Given the description of an element on the screen output the (x, y) to click on. 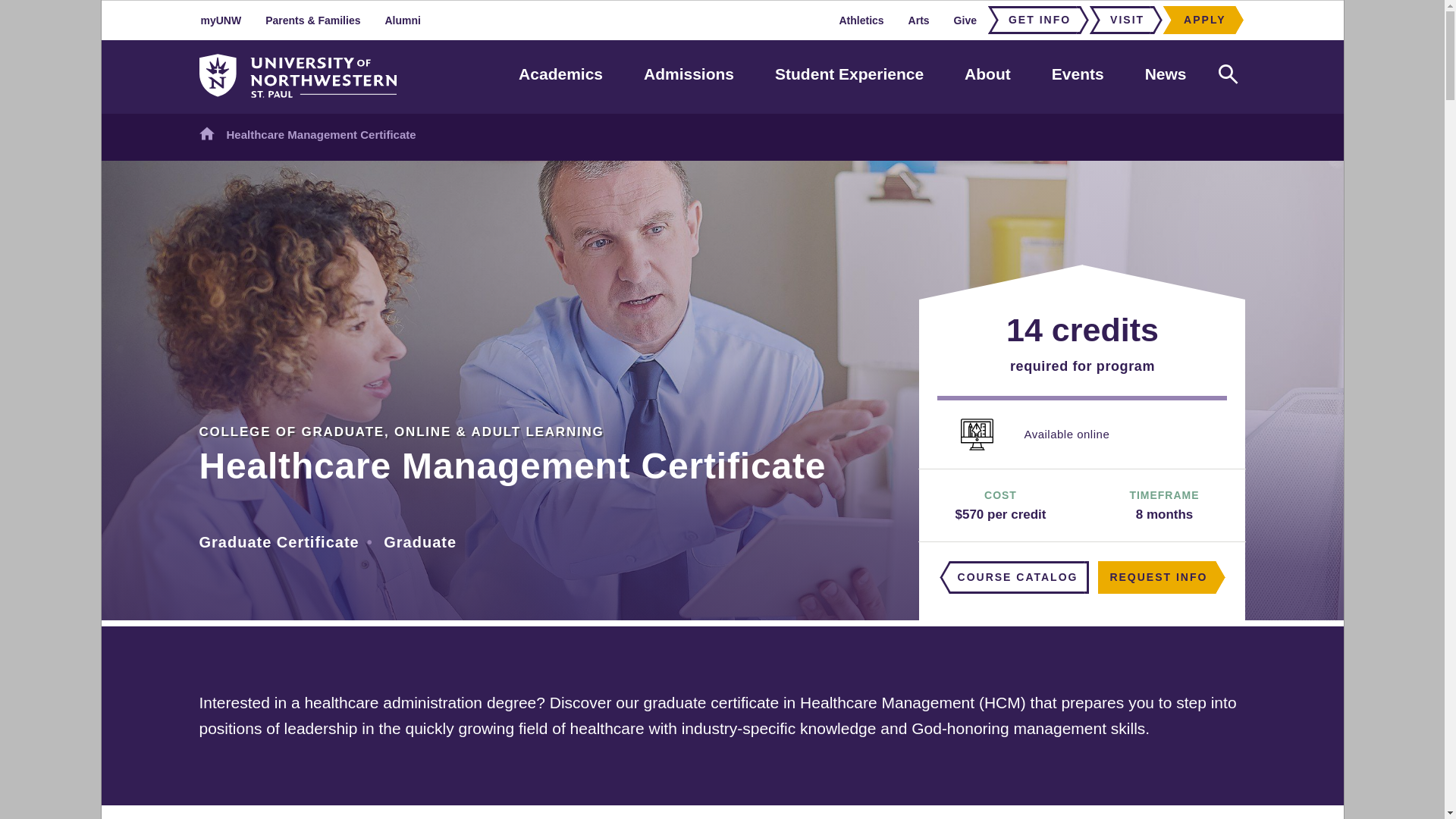
myUNW (220, 20)
Alumni (402, 20)
Arts (919, 20)
Admissions (688, 73)
Give (964, 20)
Academics (560, 73)
Athletics (860, 20)
APPLY (1199, 20)
GET INFO (1034, 20)
Logo Header (297, 75)
